Given the description of an element on the screen output the (x, y) to click on. 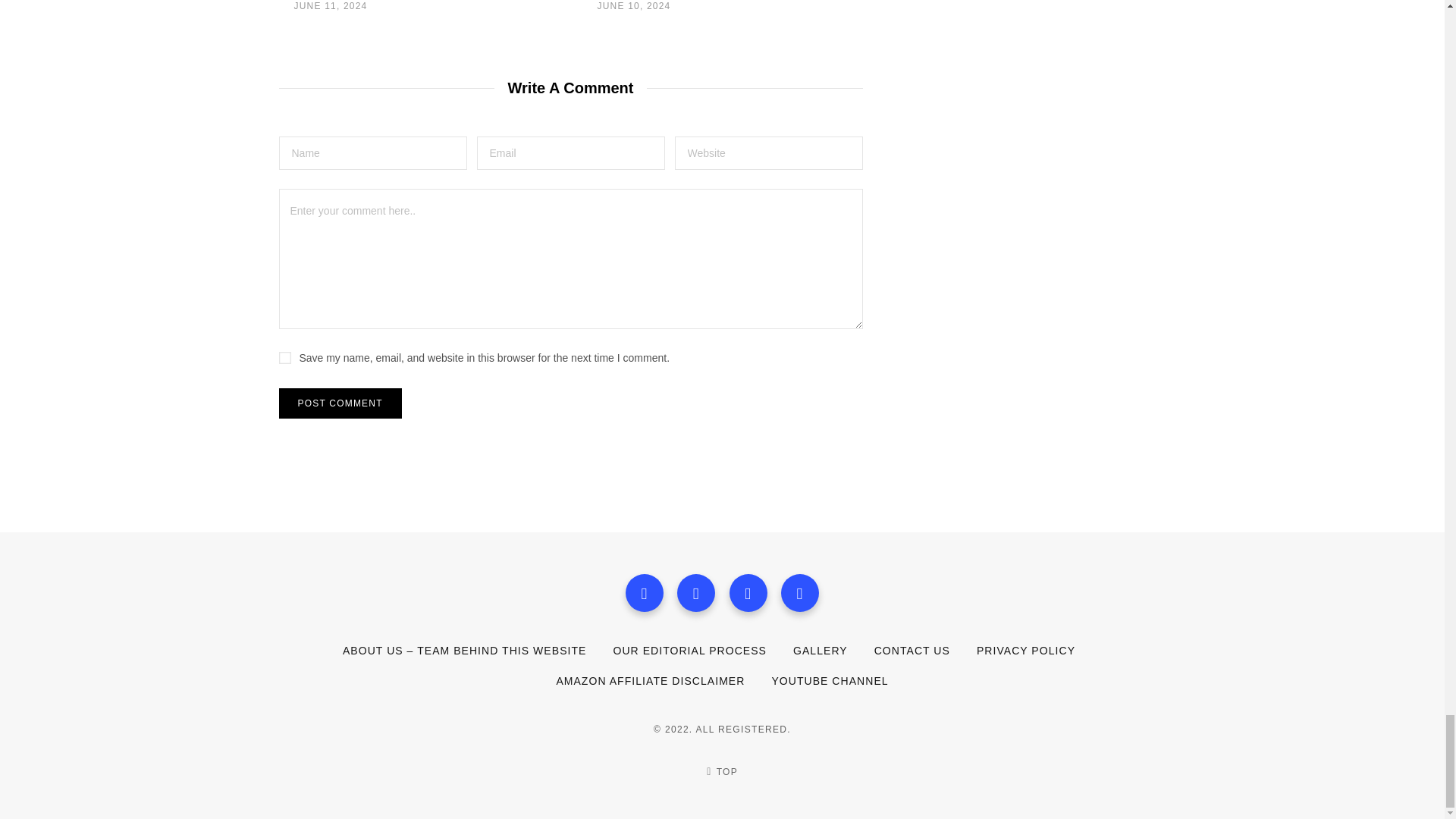
Post Comment (340, 403)
yes (285, 357)
